Given the description of an element on the screen output the (x, y) to click on. 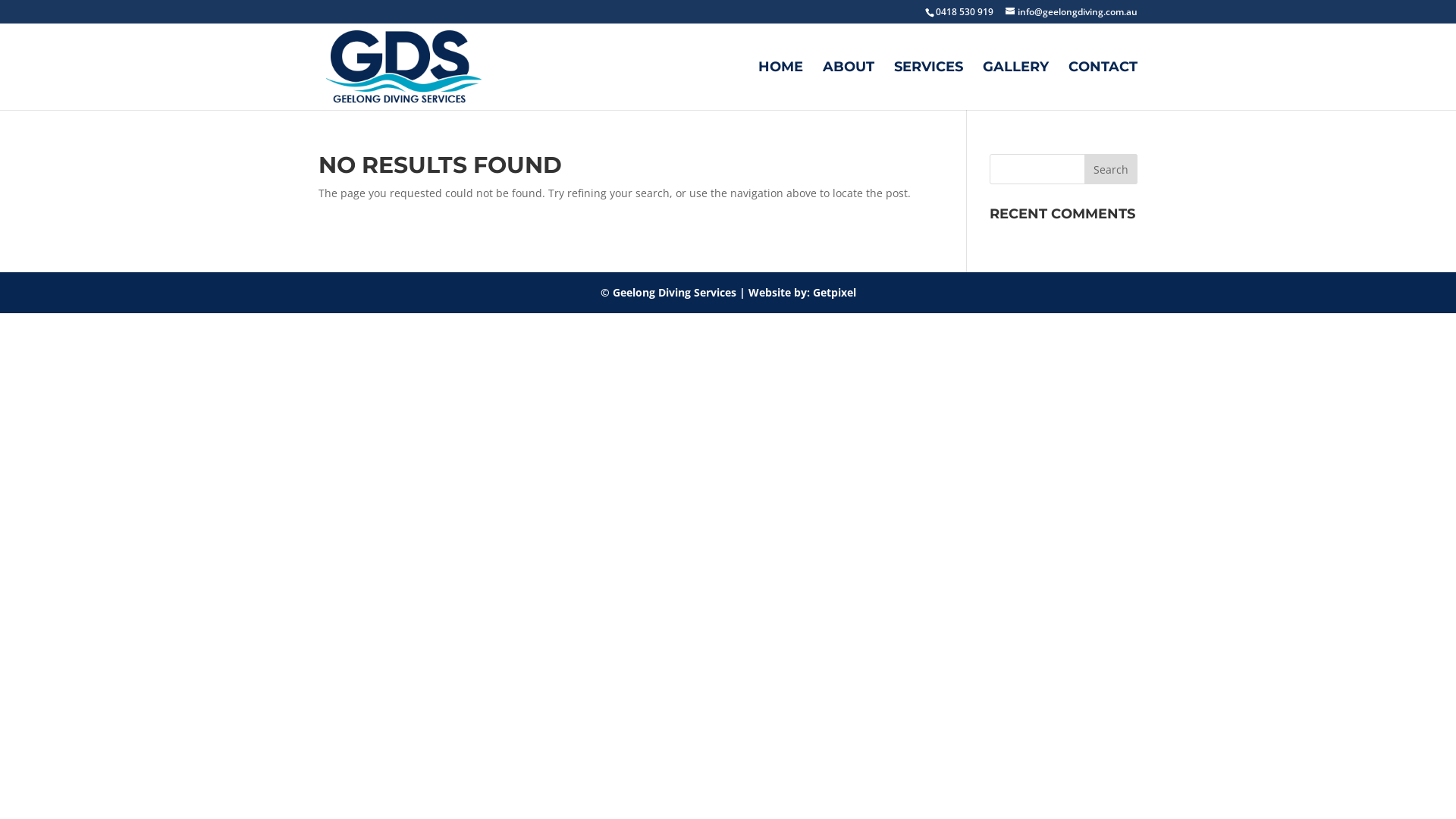
info@geelongdiving.com.au Element type: text (1071, 11)
SERVICES Element type: text (928, 85)
CONTACT Element type: text (1102, 85)
GALLERY Element type: text (1015, 85)
HOME Element type: text (780, 85)
Website by: Getpixel Element type: text (801, 292)
0418 530 919 Element type: text (964, 11)
Search Element type: text (1110, 168)
ABOUT Element type: text (848, 85)
